Given the description of an element on the screen output the (x, y) to click on. 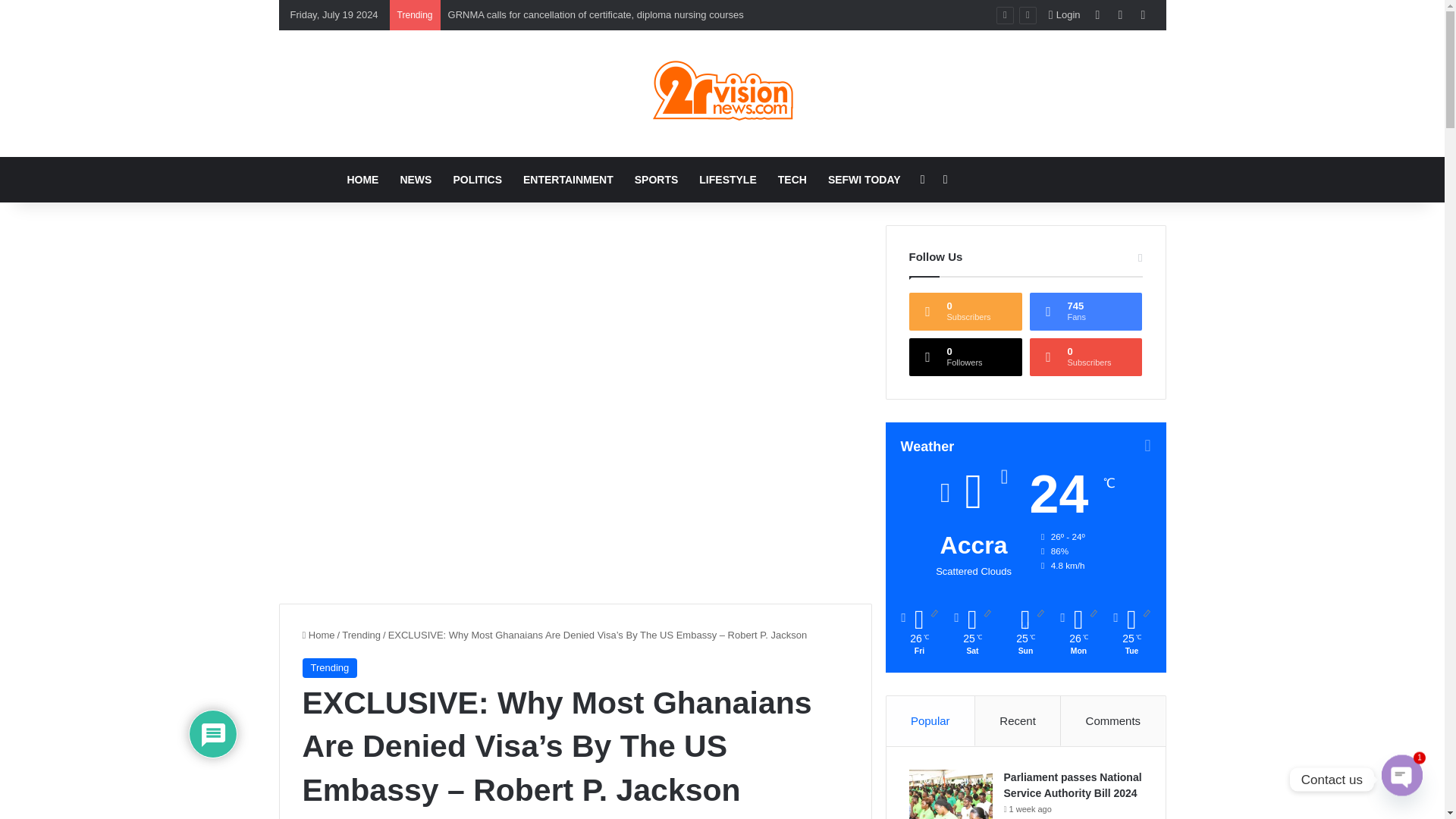
Trending (361, 634)
POLITICS (477, 179)
TECH (791, 179)
SEFWI TODAY (863, 179)
SPORTS (656, 179)
Home (317, 634)
NEWS (415, 179)
LIFESTYLE (727, 179)
Trending (328, 668)
HOME (362, 179)
2R VISION NEWS (721, 93)
ENTERTAINMENT (568, 179)
